Given the description of an element on the screen output the (x, y) to click on. 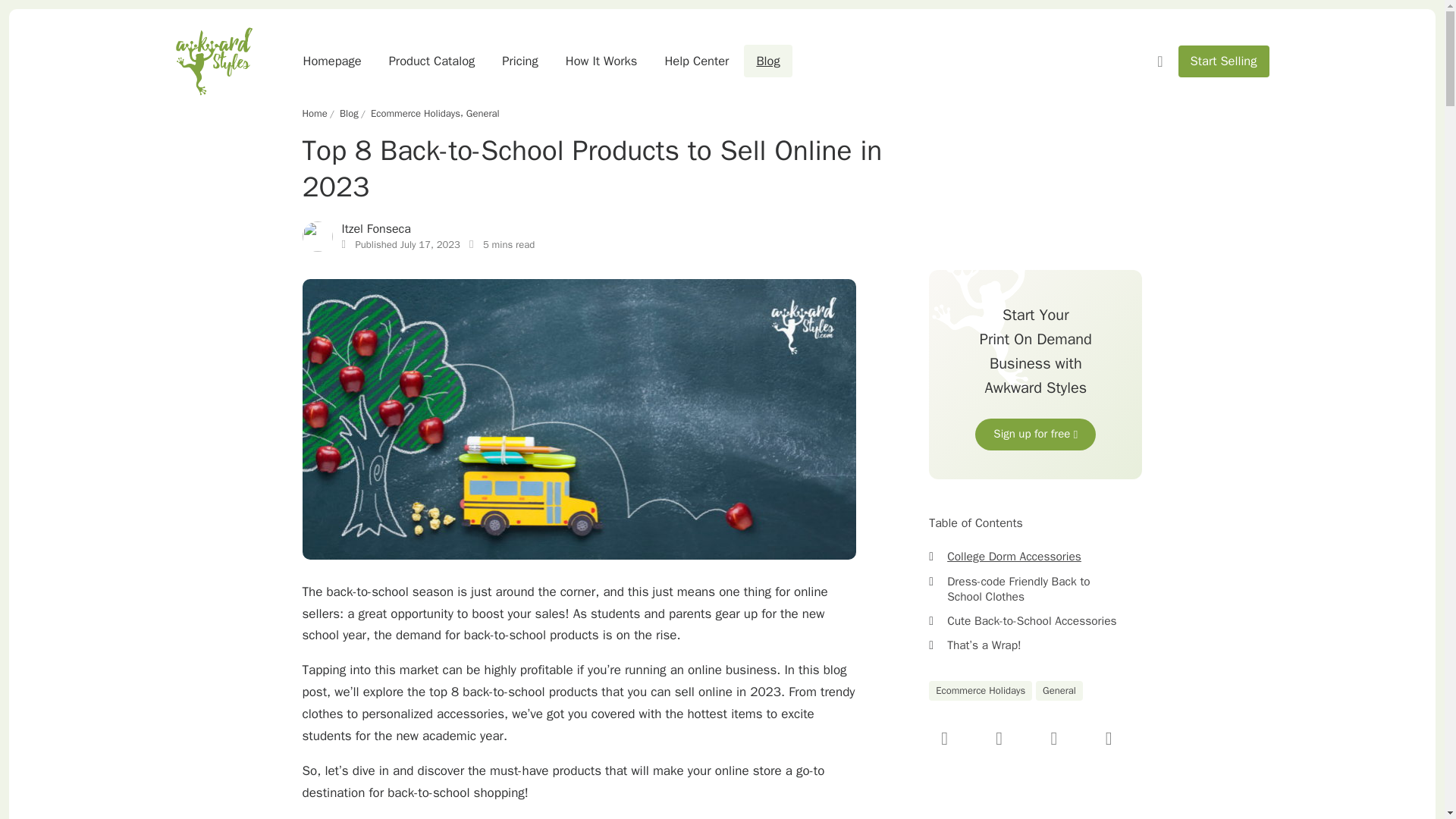
Blog (768, 60)
General (482, 113)
Ecommerce Holidays (415, 113)
Blog (348, 113)
Product Catalog (432, 60)
Homepage (332, 60)
Help Center (696, 60)
Start Selling (1223, 61)
Sign up for free (1035, 434)
Pricing (519, 60)
How It Works (601, 60)
Home (313, 113)
